Given the description of an element on the screen output the (x, y) to click on. 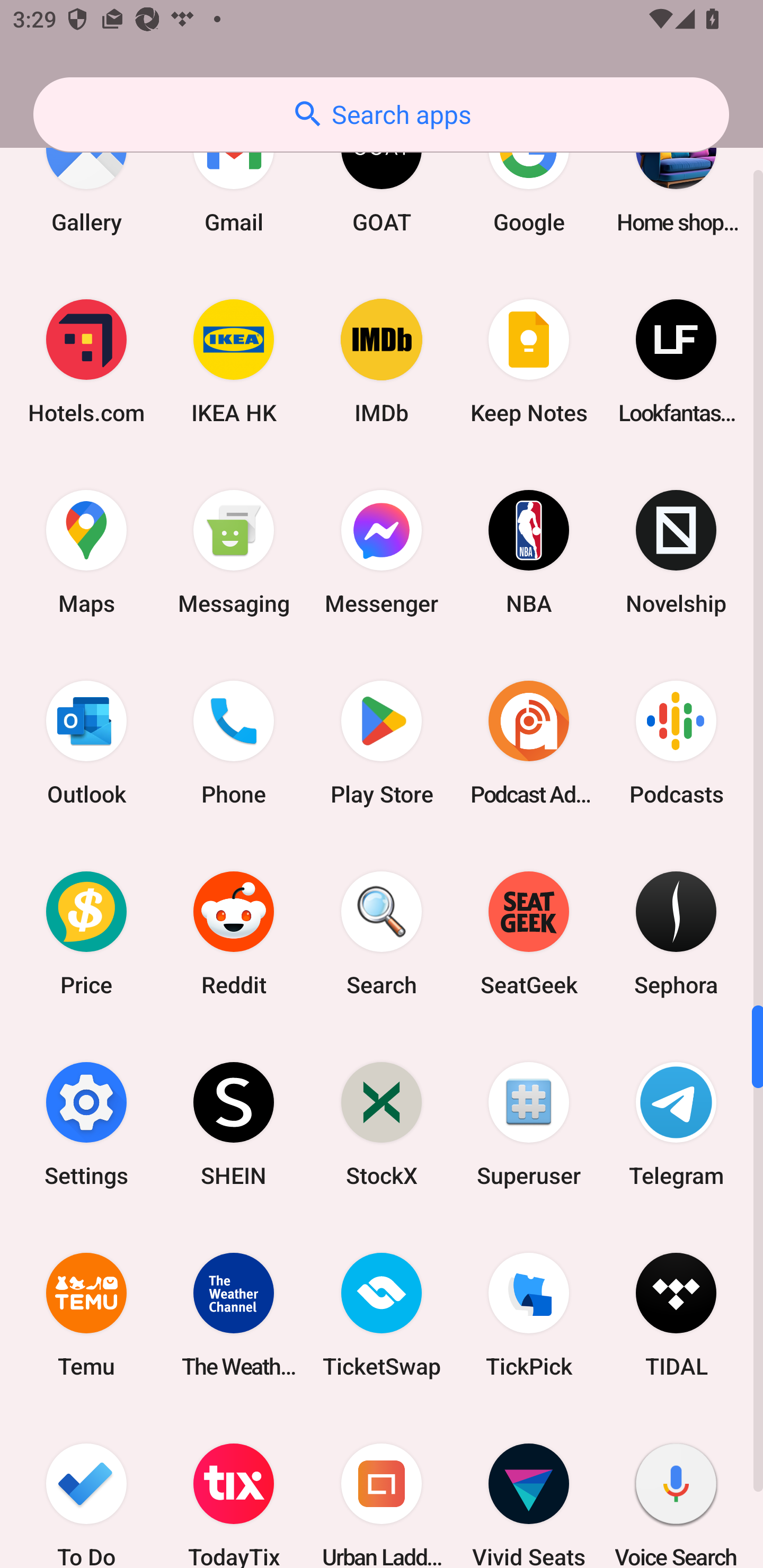
To Do (86, 1488)
